Given the description of an element on the screen output the (x, y) to click on. 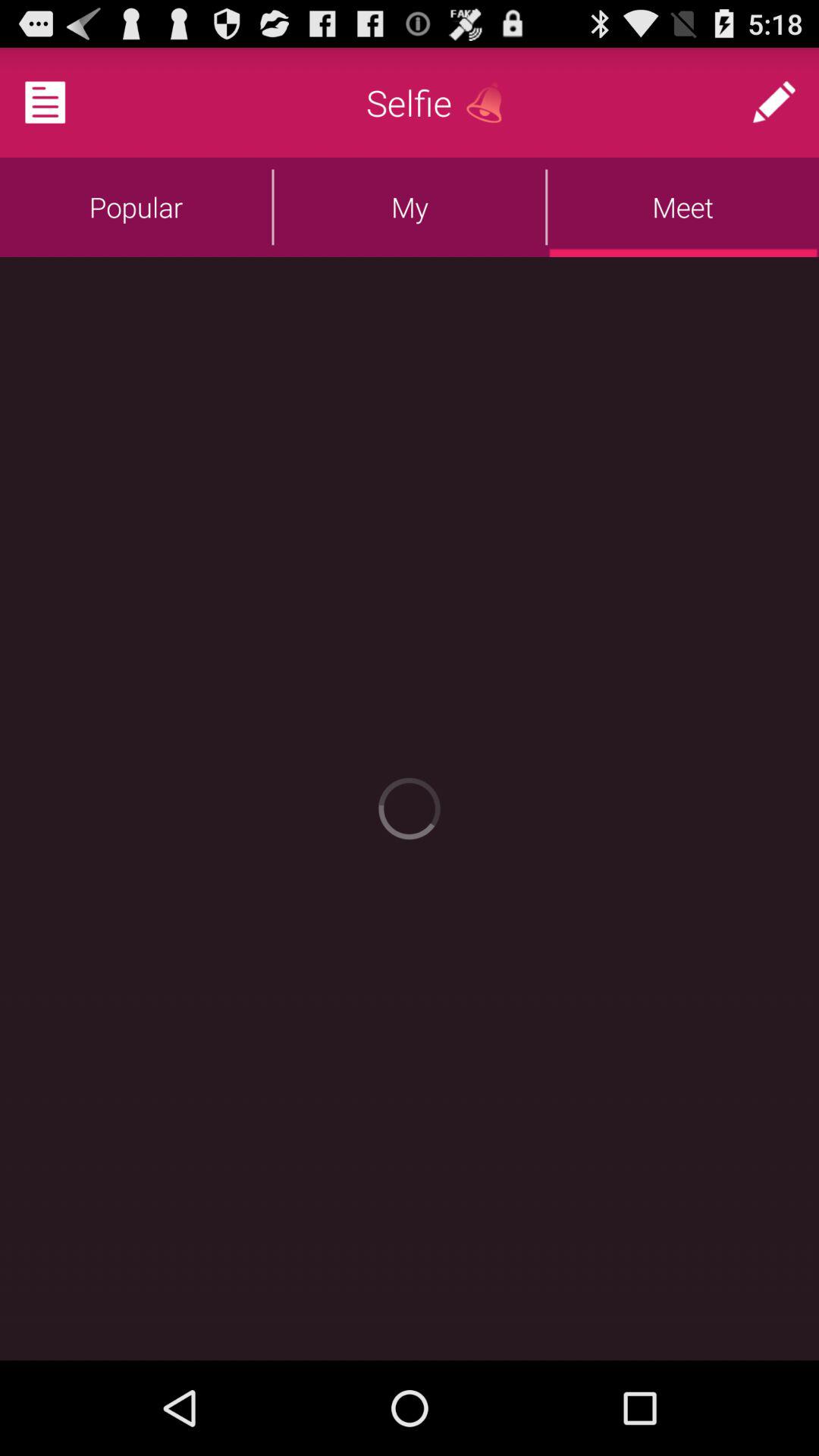
this button allows you to see the menu (63, 102)
